Given the description of an element on the screen output the (x, y) to click on. 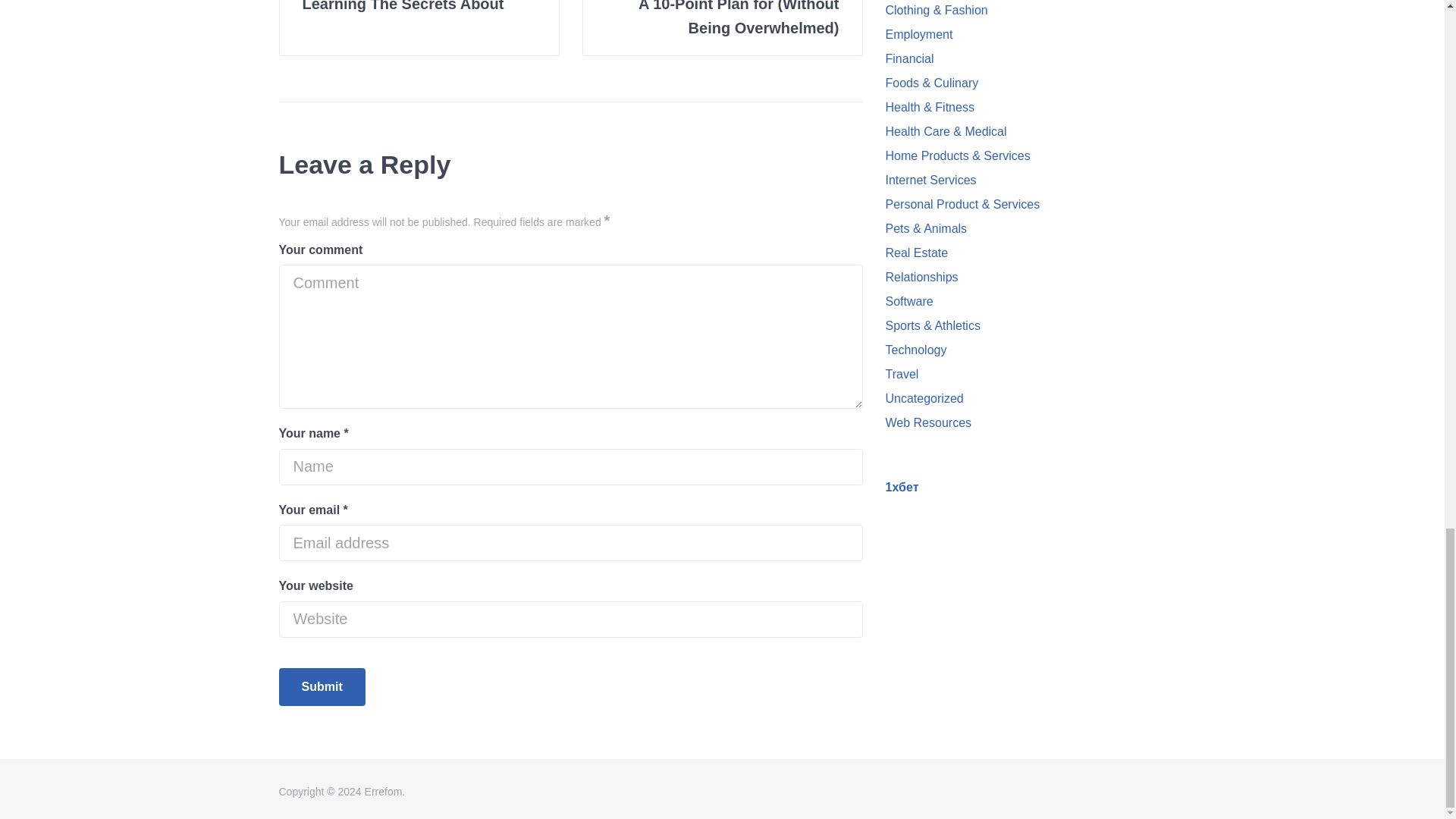
Submit (322, 686)
Submit (322, 686)
